Given the description of an element on the screen output the (x, y) to click on. 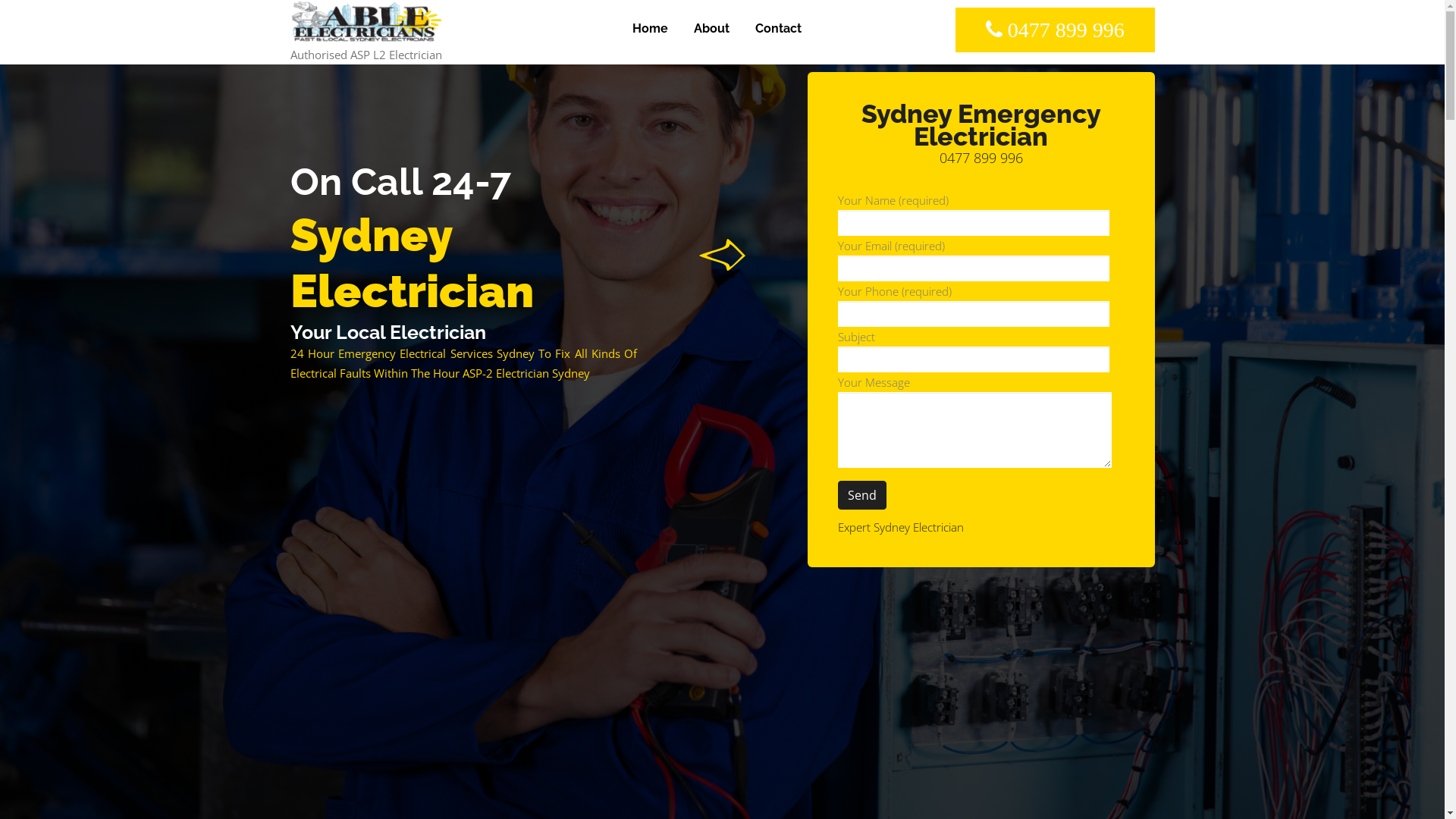
About Element type: text (711, 28)
Send Element type: text (861, 494)
Home Element type: text (649, 28)
0477 899 996 Element type: text (1054, 29)
Contact Element type: text (777, 28)
